Given the description of an element on the screen output the (x, y) to click on. 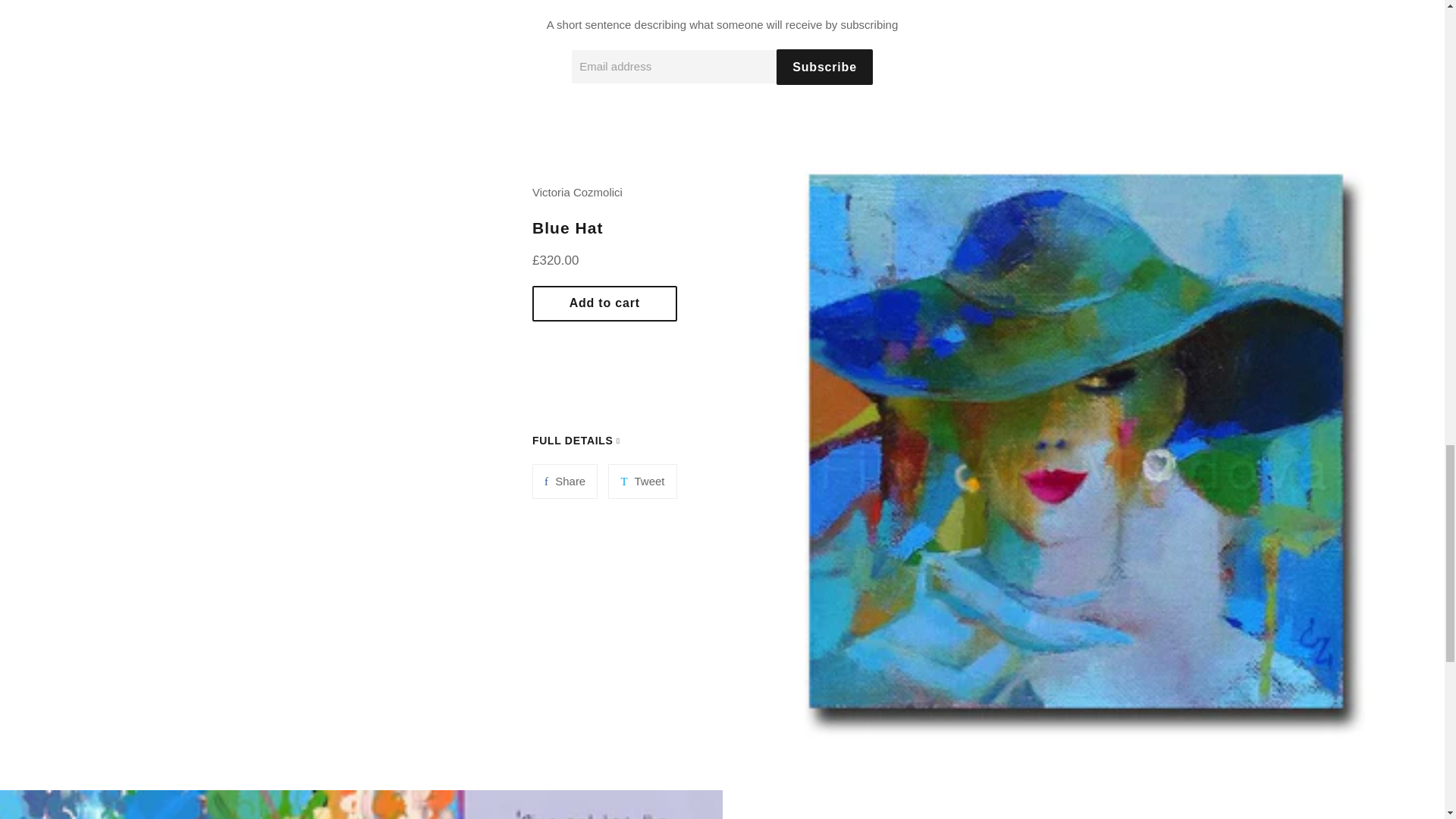
Share on Facebook (564, 481)
Tweet on Twitter (642, 481)
